Given the description of an element on the screen output the (x, y) to click on. 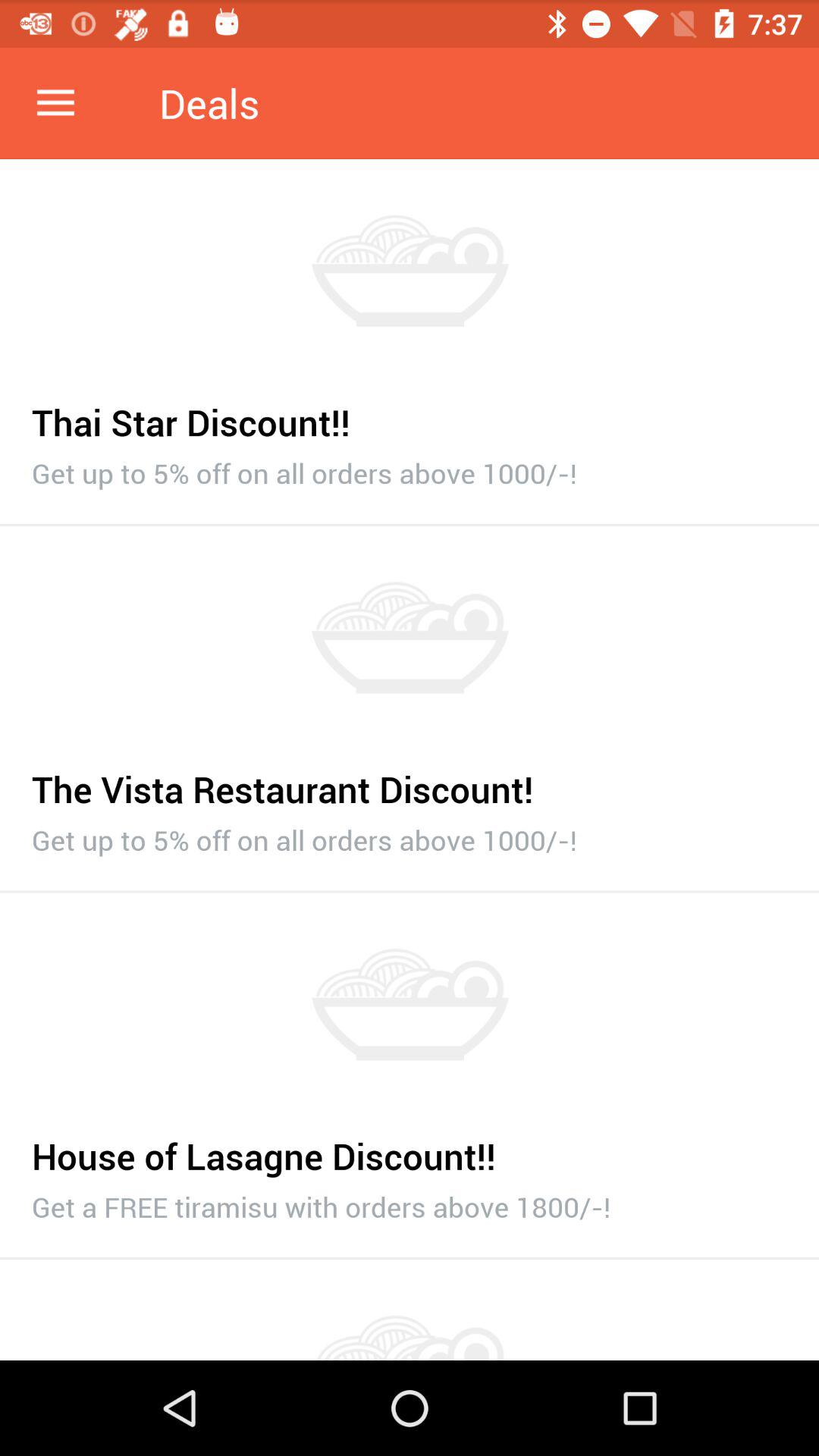
open item above get a free (409, 1147)
